Given the description of an element on the screen output the (x, y) to click on. 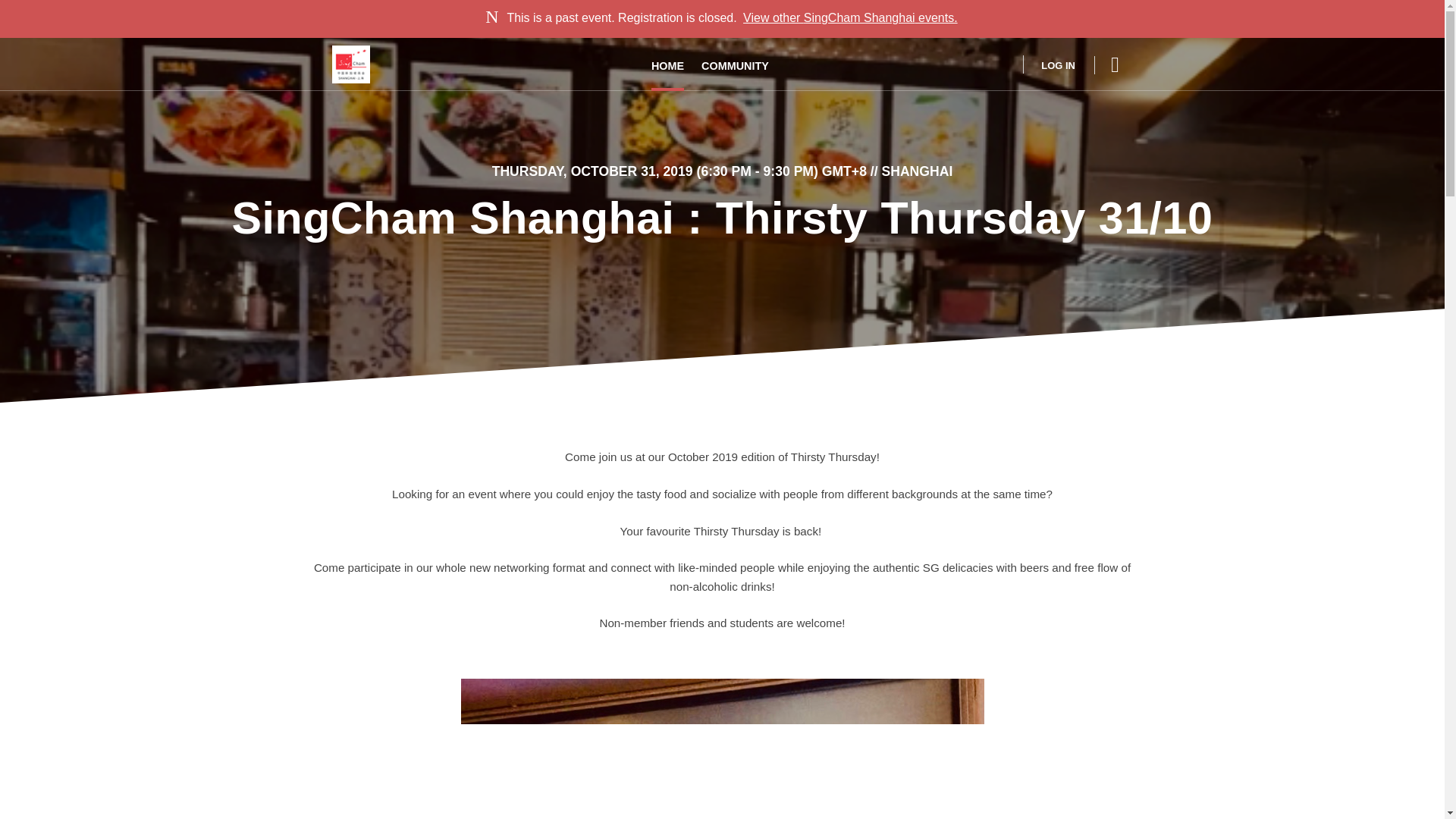
LOG IN (1048, 63)
Sign in (1048, 63)
View other SingCham Shanghai events. (850, 17)
COMMUNITY (734, 63)
